Given the description of an element on the screen output the (x, y) to click on. 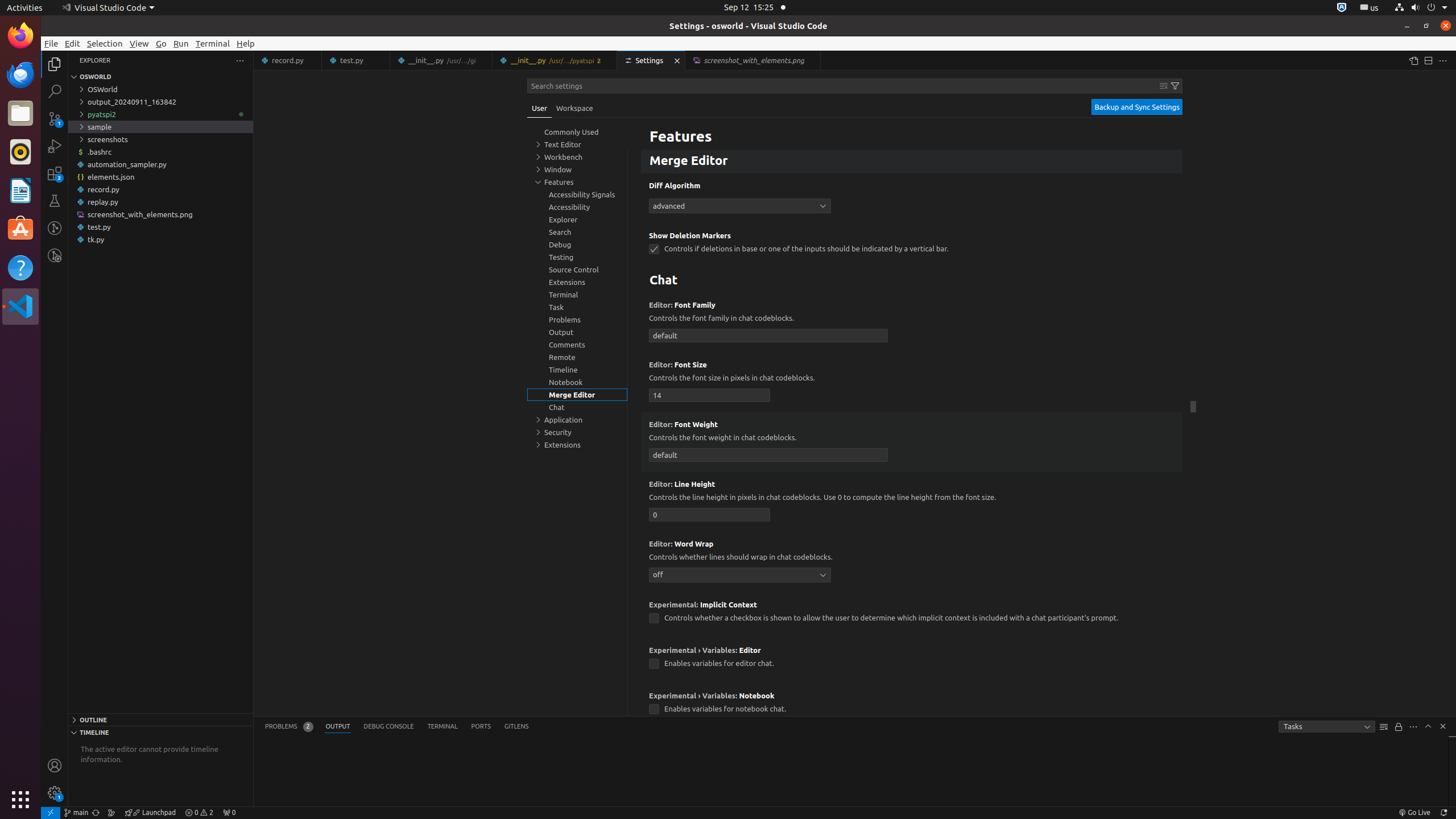
off Element type: menu-item (739, 574)
Workbench, group Element type: tree-item (577, 156)
